Given the description of an element on the screen output the (x, y) to click on. 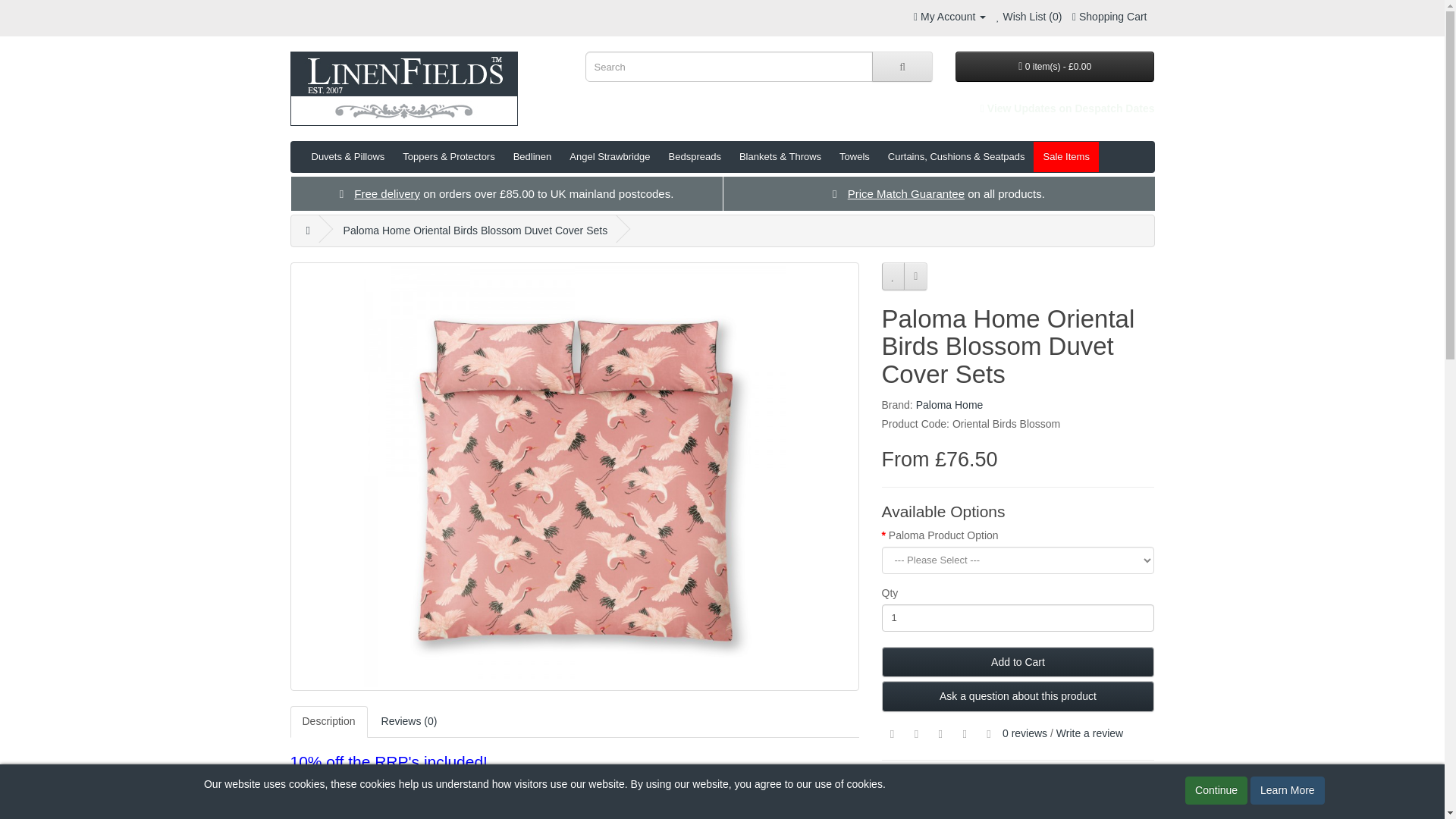
Continue (1216, 790)
Shopping Cart (1109, 16)
View Updates on Despatch Dates (1066, 108)
1 (1017, 617)
Learn More (1287, 790)
My Account (949, 16)
LinenFields (402, 88)
Continue (1216, 790)
My Account (949, 16)
Shopping Cart (1109, 16)
